Given the description of an element on the screen output the (x, y) to click on. 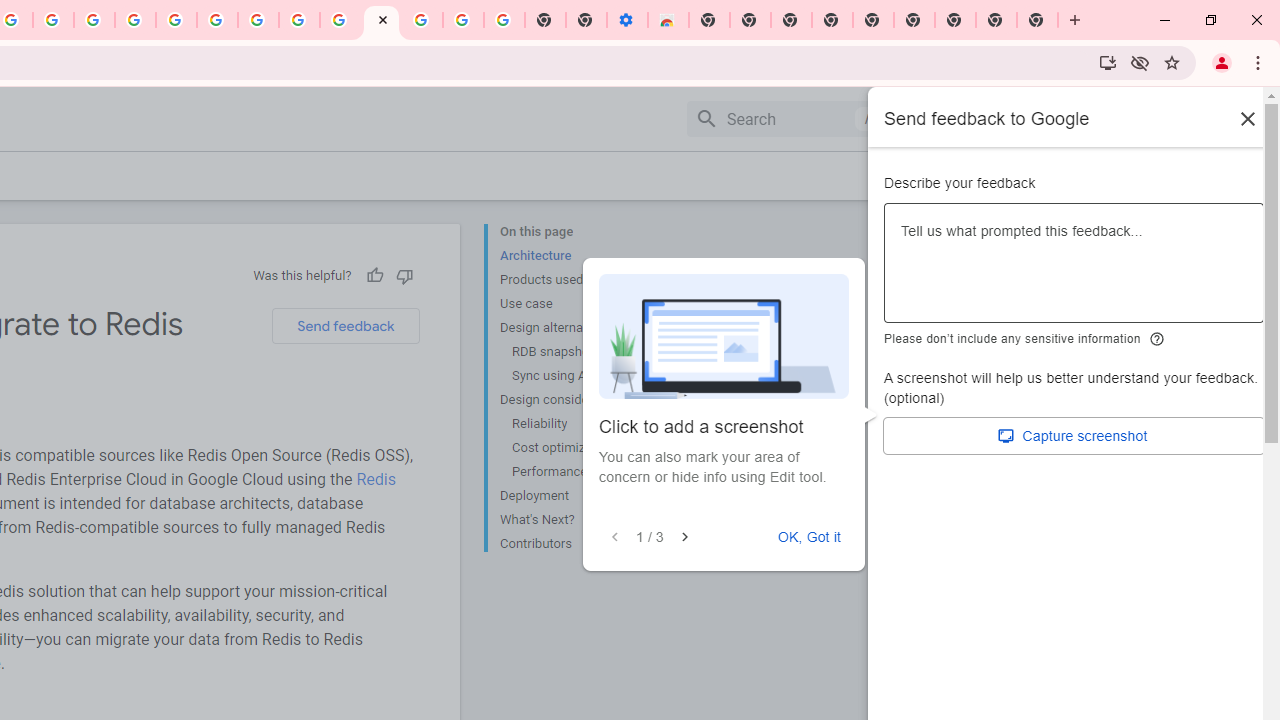
OK, Got it (809, 537)
Install Google Cloud (1107, 62)
Deployment (580, 495)
Contributors (580, 542)
Sign in - Google Accounts (421, 20)
English (1110, 118)
Sign in - Google Accounts (176, 20)
Settings - Accessibility (626, 20)
Google Account Help (217, 20)
Not helpful (404, 275)
Previous (615, 537)
